Given the description of an element on the screen output the (x, y) to click on. 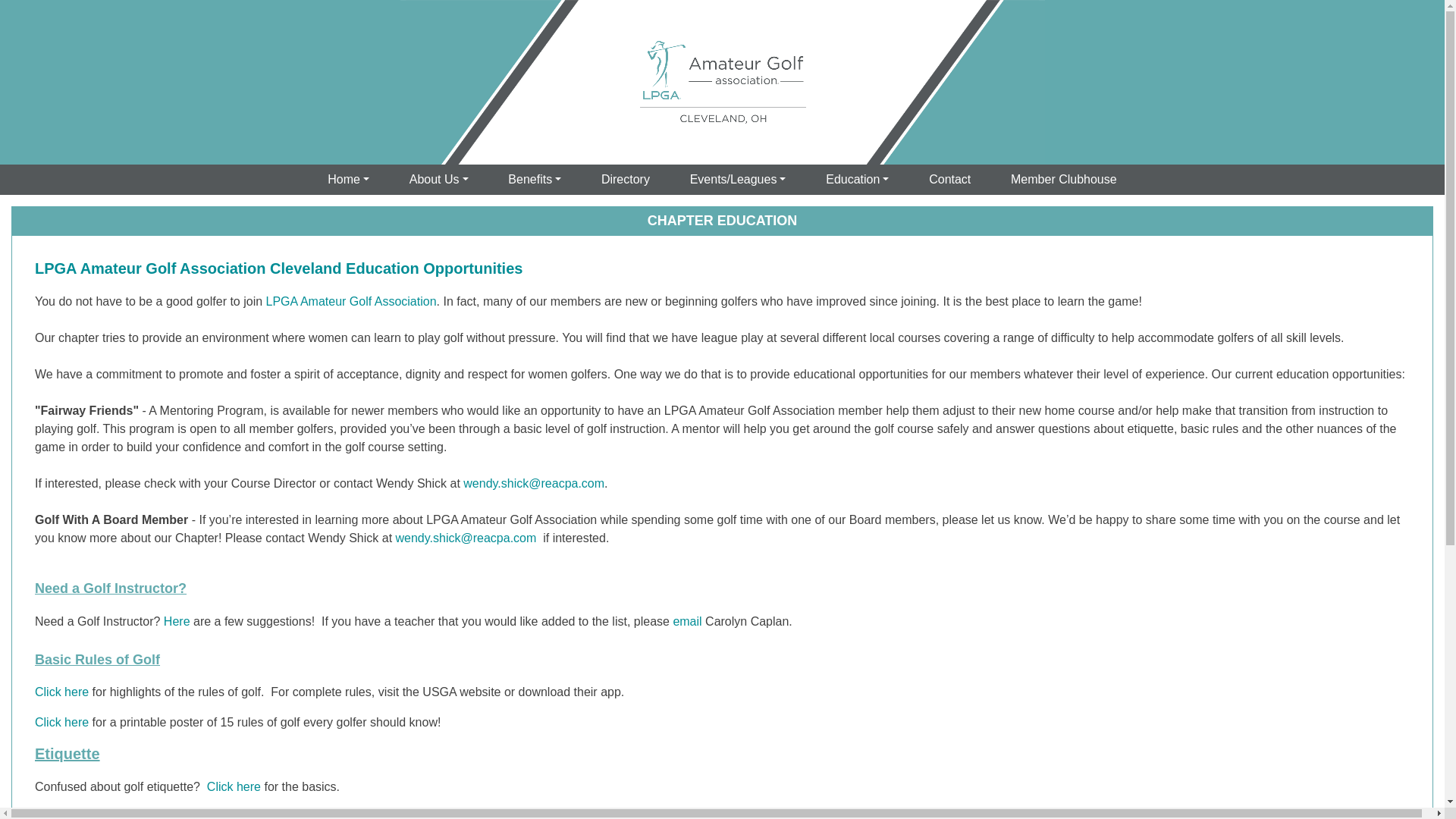
Member Clubhouse (1063, 179)
Education (857, 179)
Directory (625, 179)
Here (176, 621)
email (686, 621)
Click here (233, 786)
Contact (949, 179)
Click here (61, 691)
Home (348, 179)
Click here (61, 721)
